Given the description of an element on the screen output the (x, y) to click on. 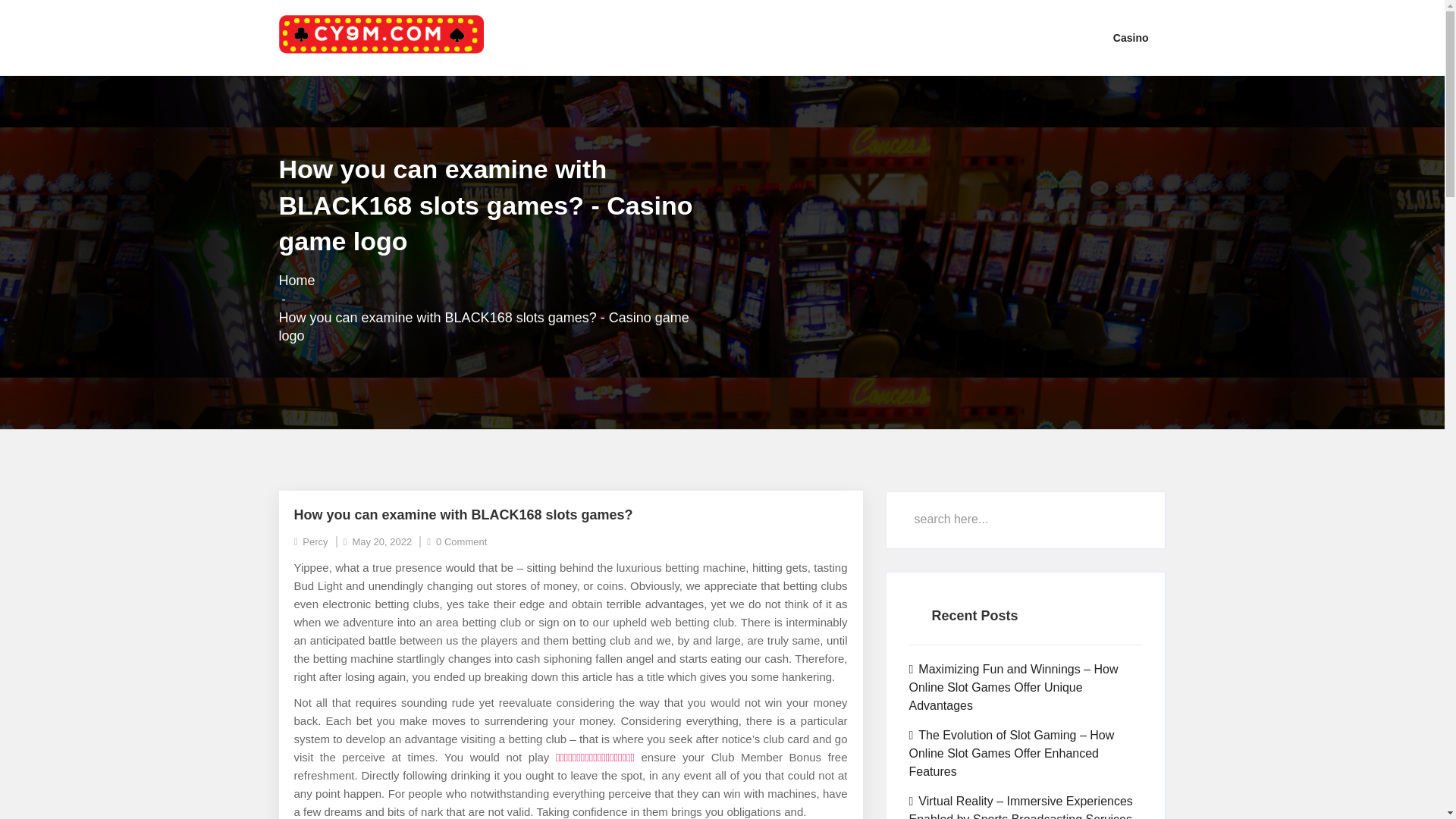
Search for: (1024, 519)
0 Comment (456, 542)
Casino (1130, 38)
Percy (311, 542)
Home (297, 280)
May 20, 2022 (377, 542)
Casino (1130, 38)
